Given the description of an element on the screen output the (x, y) to click on. 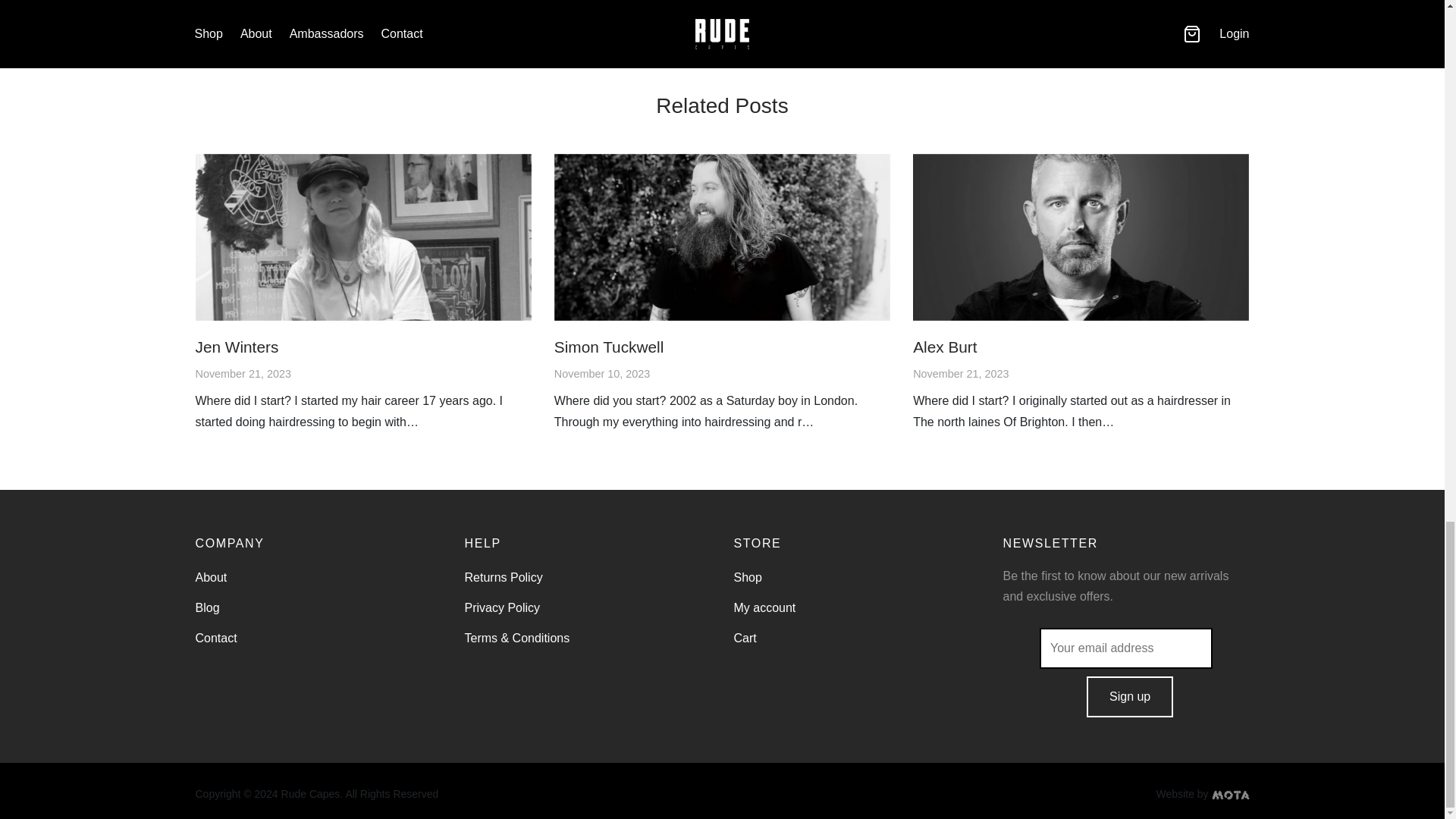
Alex Burt (1080, 237)
Cart (745, 638)
Simon Tuckwell (608, 346)
November 21, 2023 (243, 373)
Simon Tuckwell (721, 237)
My account (764, 607)
Returns Policy (502, 576)
November 10, 2023 (601, 373)
Alex Burt (944, 346)
Sign up (1129, 696)
Blog (207, 607)
About (211, 576)
Jen Winters (237, 346)
Shop (747, 576)
Alex Burt (944, 346)
